Given the description of an element on the screen output the (x, y) to click on. 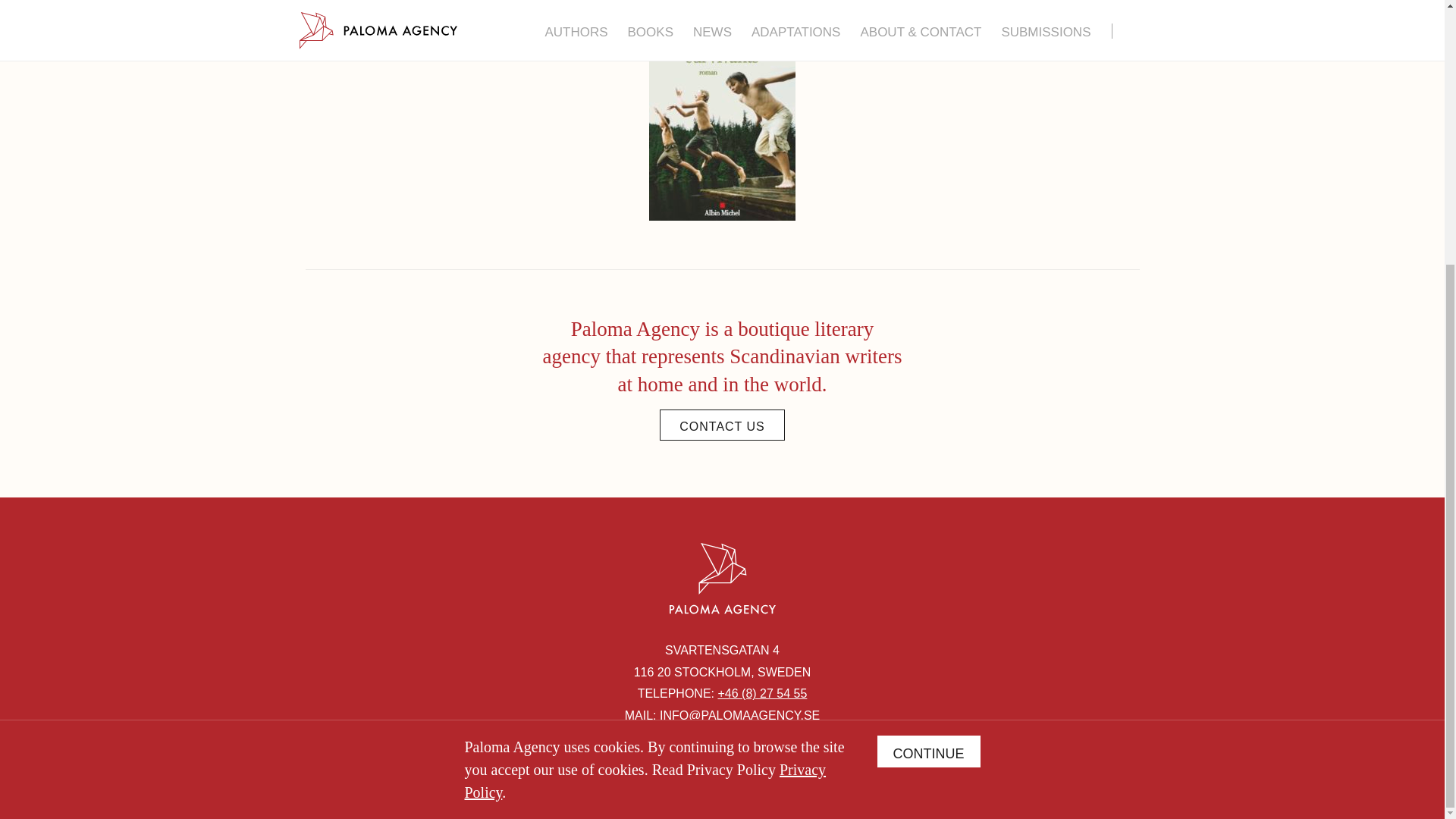
CONTACT US (721, 424)
CONTINUE (927, 368)
Privacy Policy (644, 398)
